Given the description of an element on the screen output the (x, y) to click on. 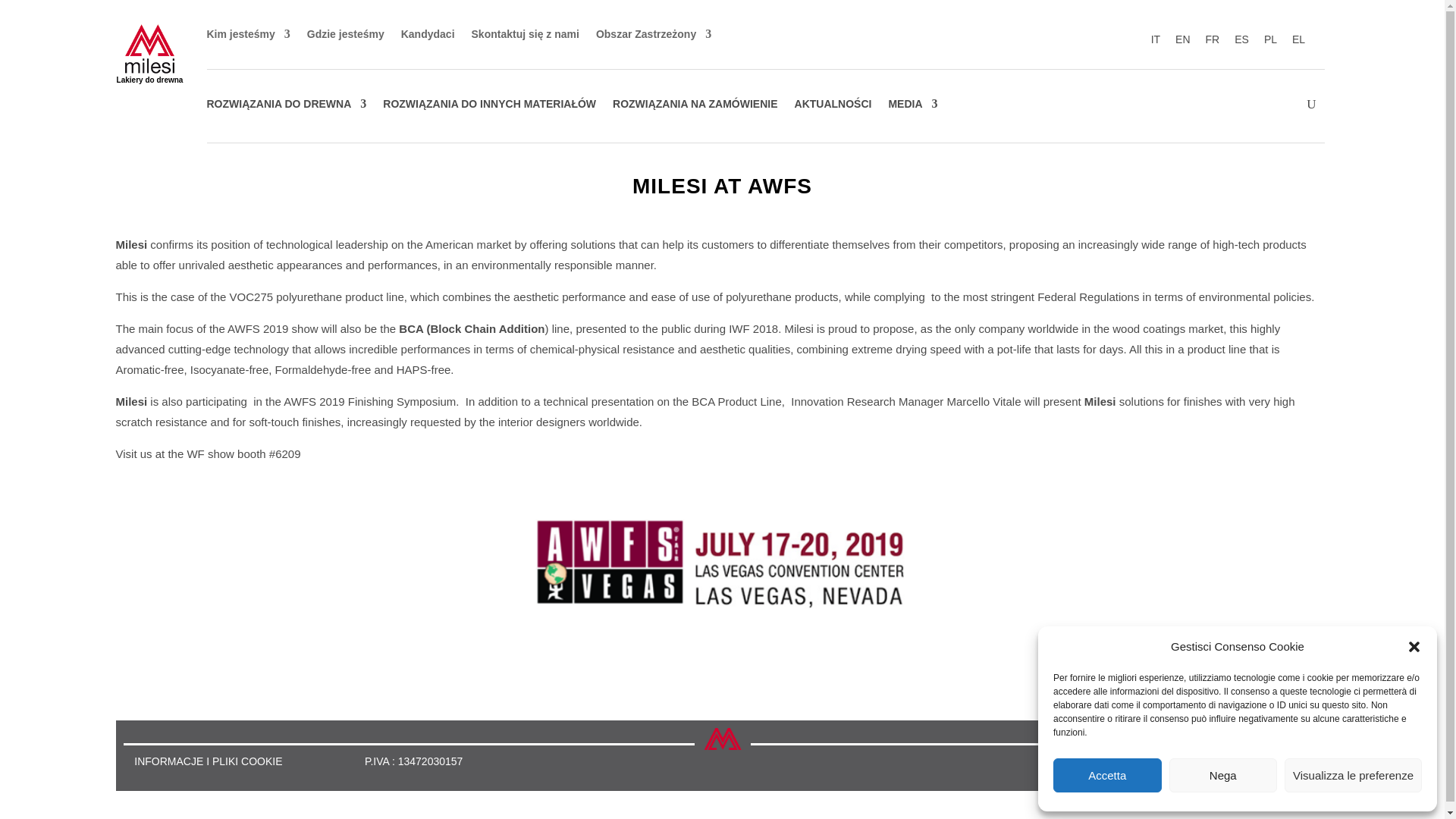
Nega (1223, 775)
milesi-web (149, 49)
Accetta (1106, 775)
Kandydaci (427, 36)
logo-footer (721, 748)
Visualizza le preferenze (1353, 775)
